Given the description of an element on the screen output the (x, y) to click on. 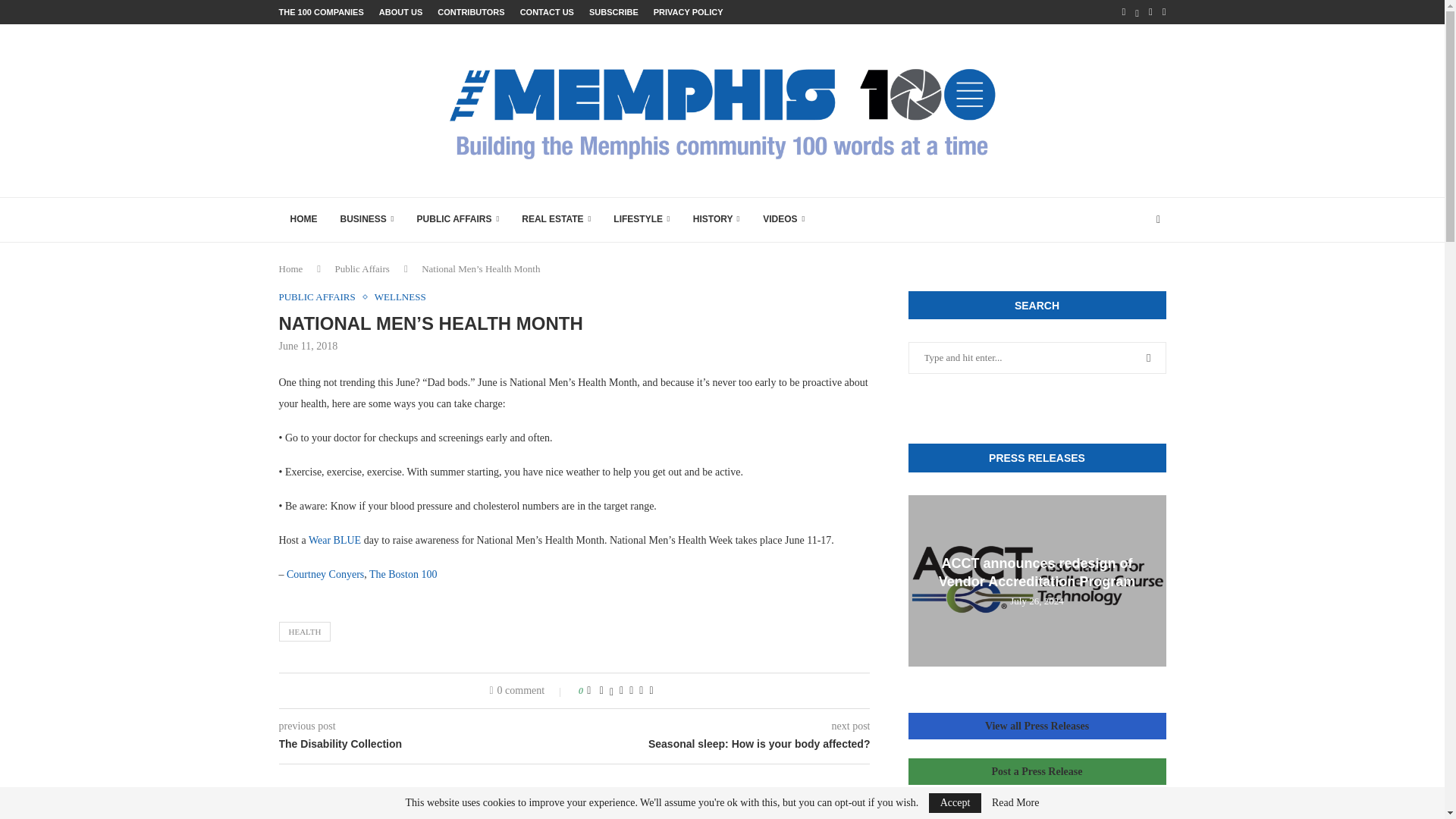
SUBSCRIBE (614, 12)
WELLNESS (400, 297)
The Boston 100 (402, 573)
HISTORY (716, 219)
VIDEOS (783, 219)
PRIVACY POLICY (688, 12)
HEALTH (305, 631)
CONTRIBUTORS (470, 12)
Courtney Conyers (325, 573)
BUSINESS (367, 219)
